Given the description of an element on the screen output the (x, y) to click on. 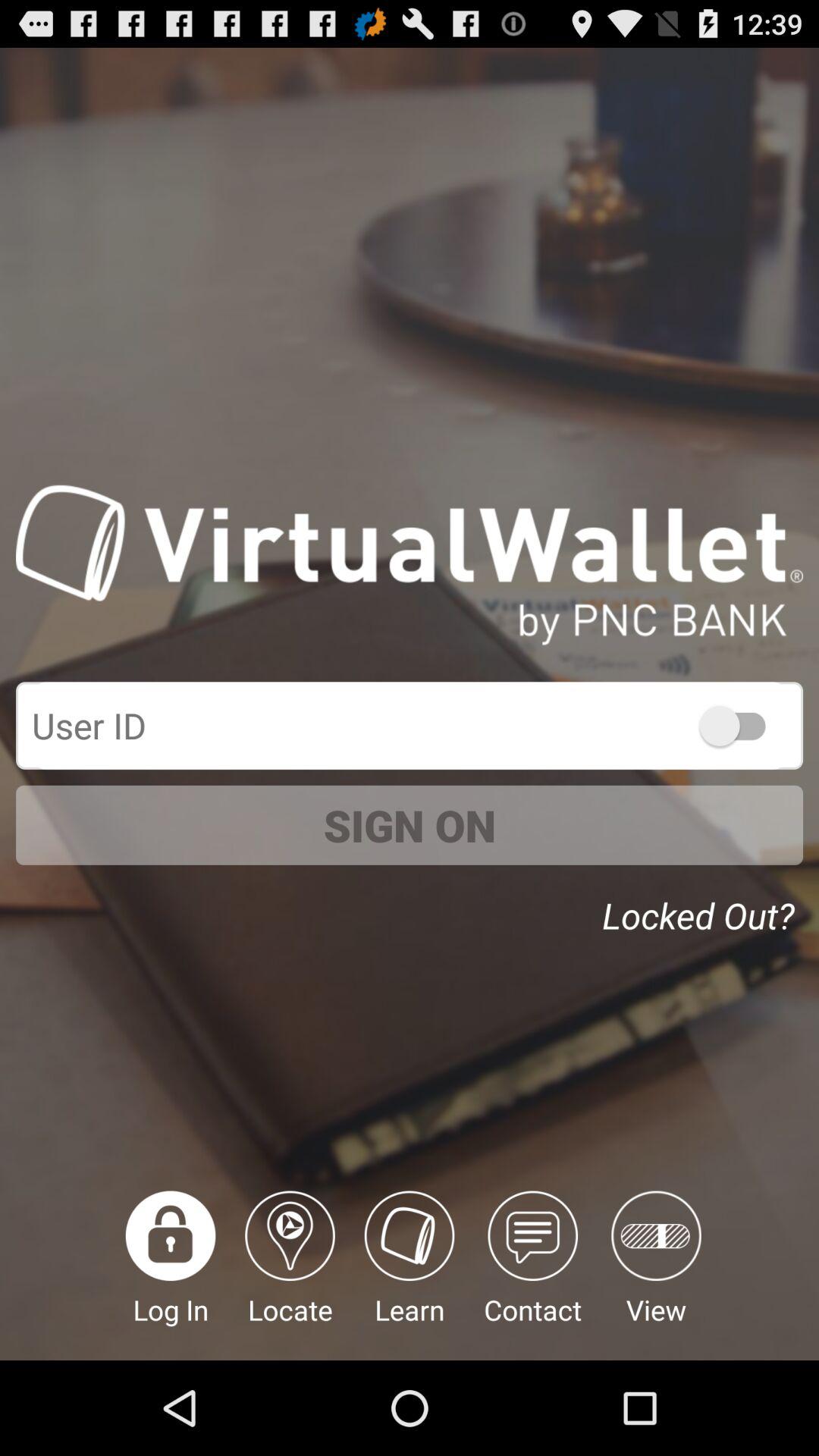
toggle to display userid (739, 725)
